Given the description of an element on the screen output the (x, y) to click on. 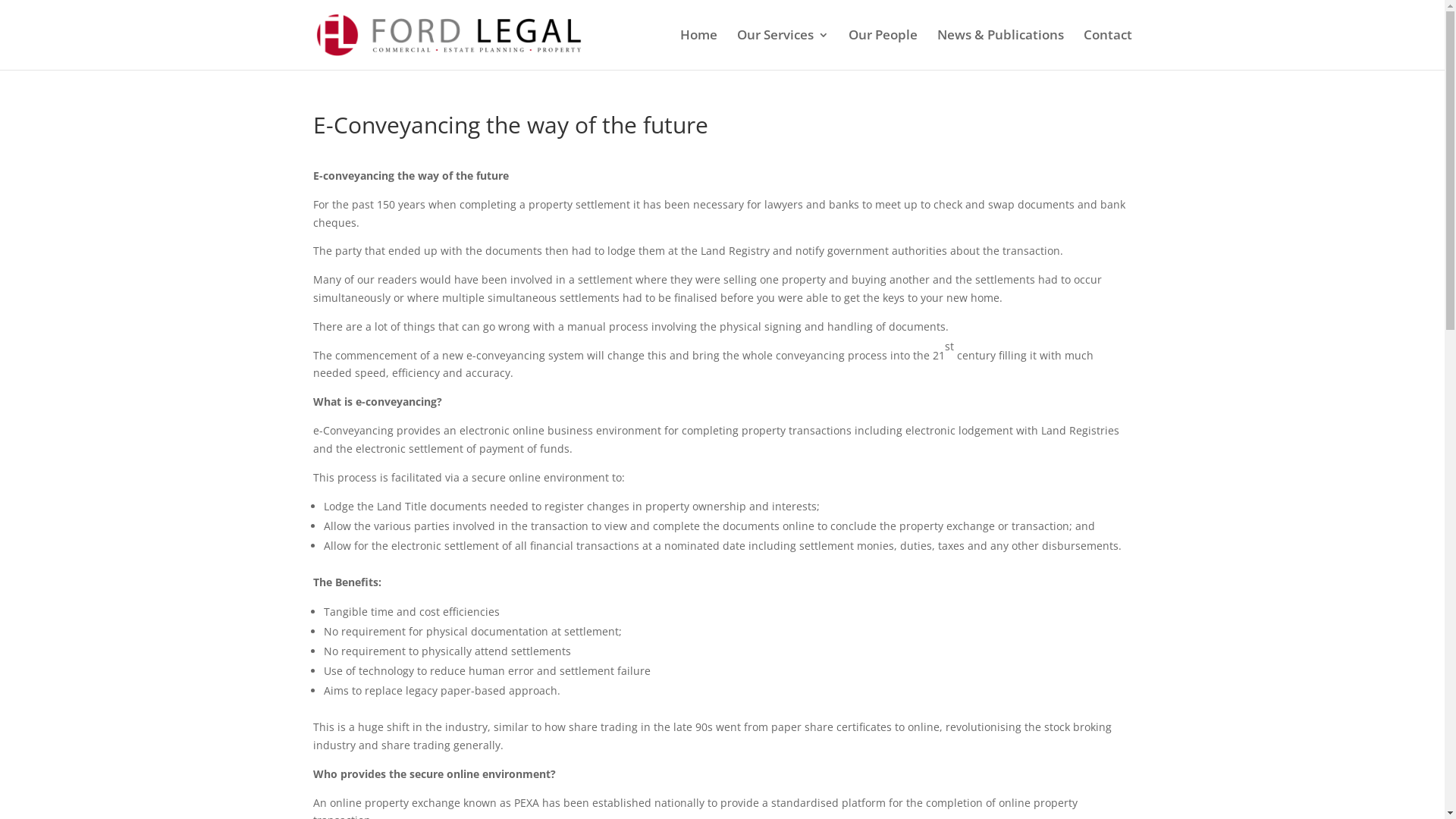
Contact Element type: text (1106, 49)
Our People Element type: text (881, 49)
Home Element type: text (697, 49)
Our Services Element type: text (782, 49)
News & Publications Element type: text (1000, 49)
